Given the description of an element on the screen output the (x, y) to click on. 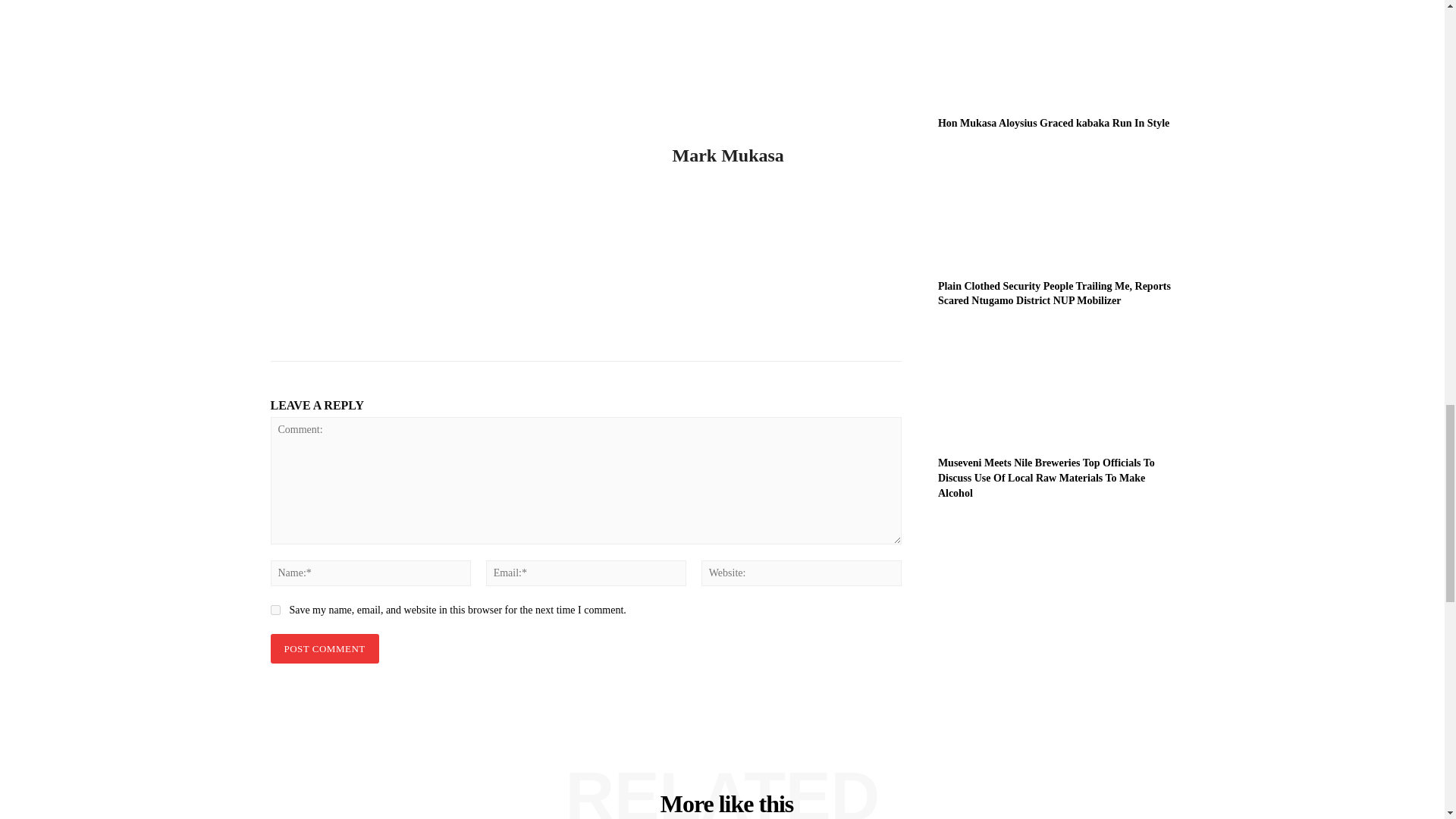
Mark Mukasa (459, 172)
yes (274, 610)
Post Comment (323, 648)
